Given the description of an element on the screen output the (x, y) to click on. 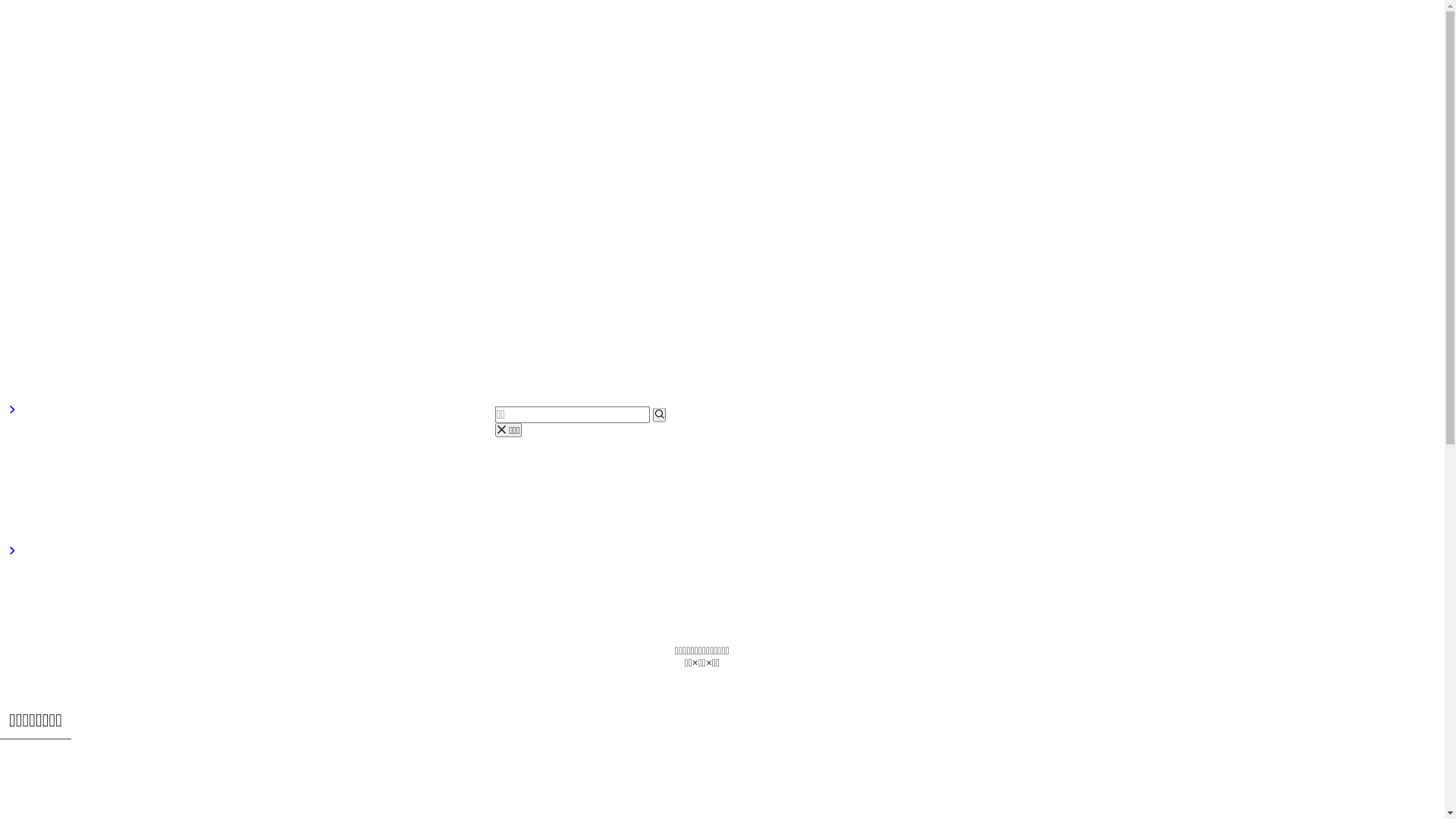
search Element type: text (658, 414)
